Given the description of an element on the screen output the (x, y) to click on. 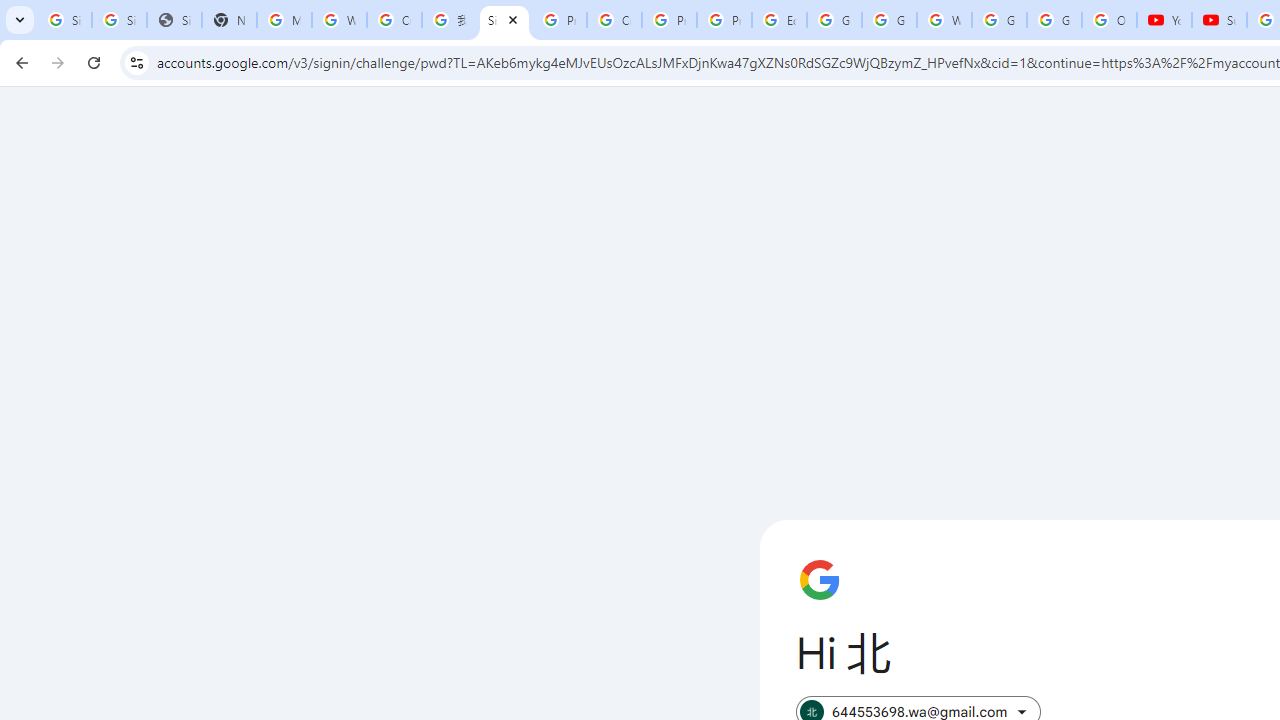
Create your Google Account (614, 20)
Sign in - Google Accounts (504, 20)
Google Slides: Sign-in (833, 20)
Subscriptions - YouTube (1218, 20)
Sign in - Google Accounts (119, 20)
